Given the description of an element on the screen output the (x, y) to click on. 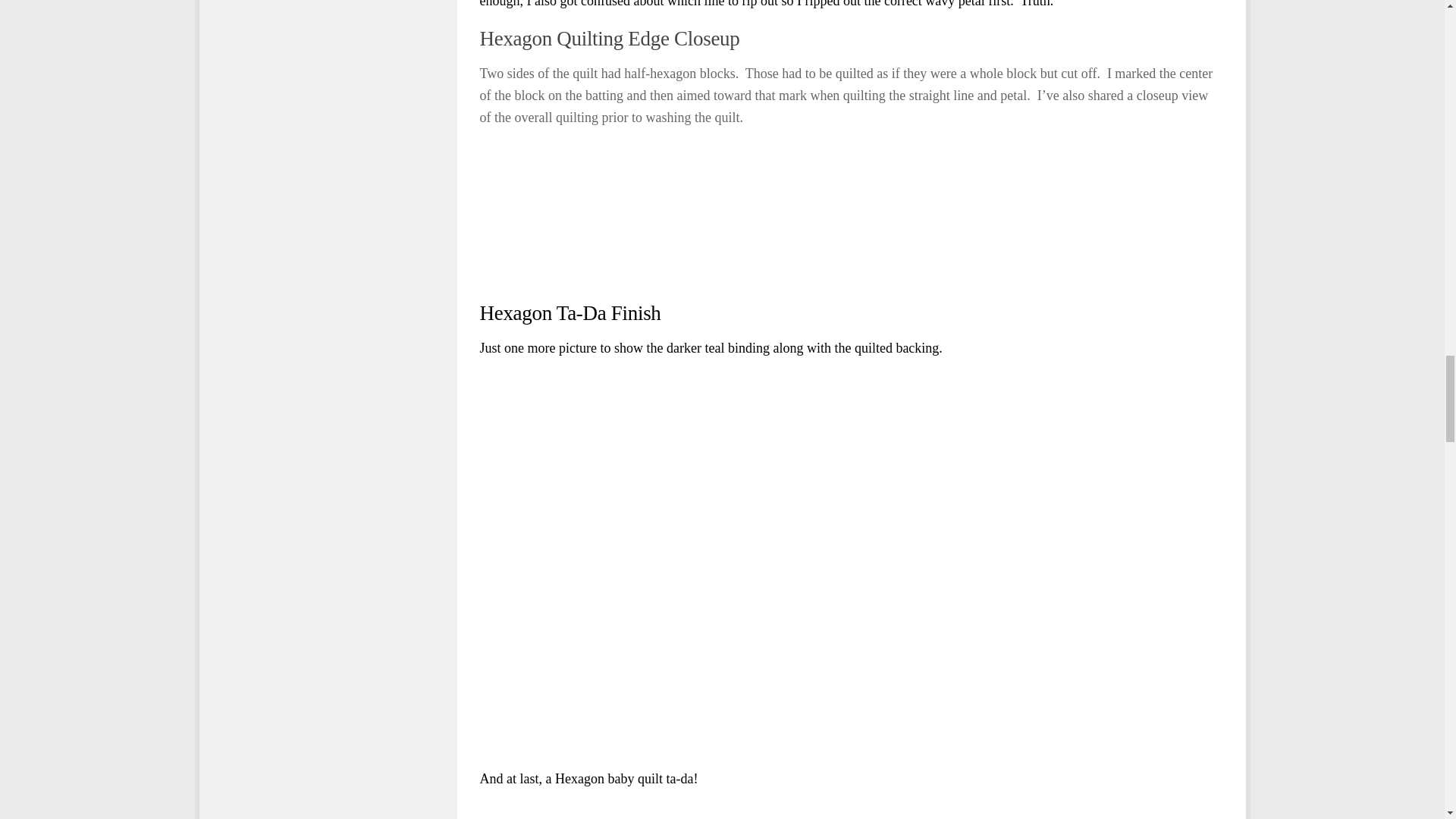
Hexi edge quilting (573, 213)
Hexi quilting (763, 213)
